Given the description of an element on the screen output the (x, y) to click on. 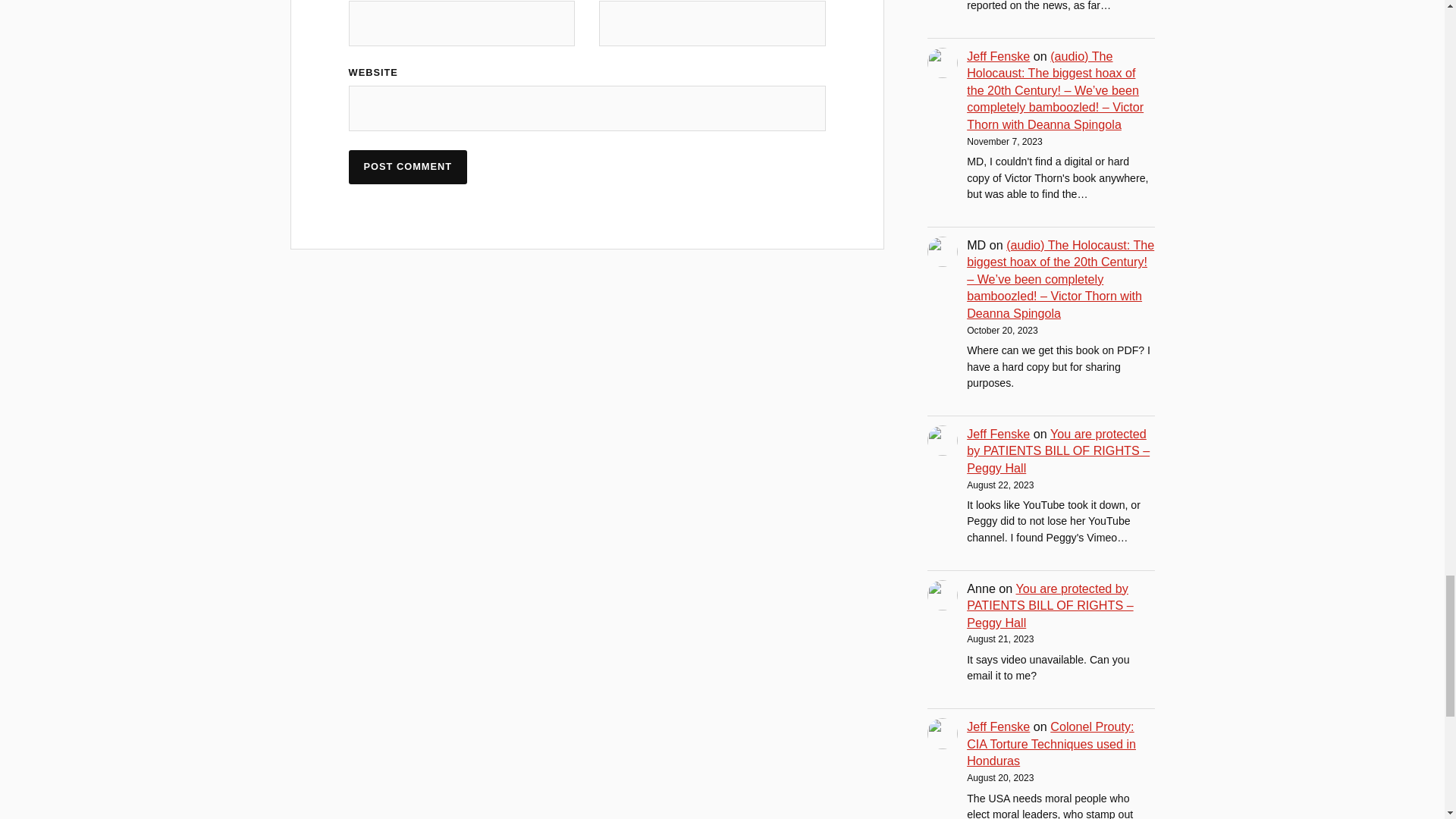
Post Comment (408, 166)
Post Comment (408, 166)
